Given the description of an element on the screen output the (x, y) to click on. 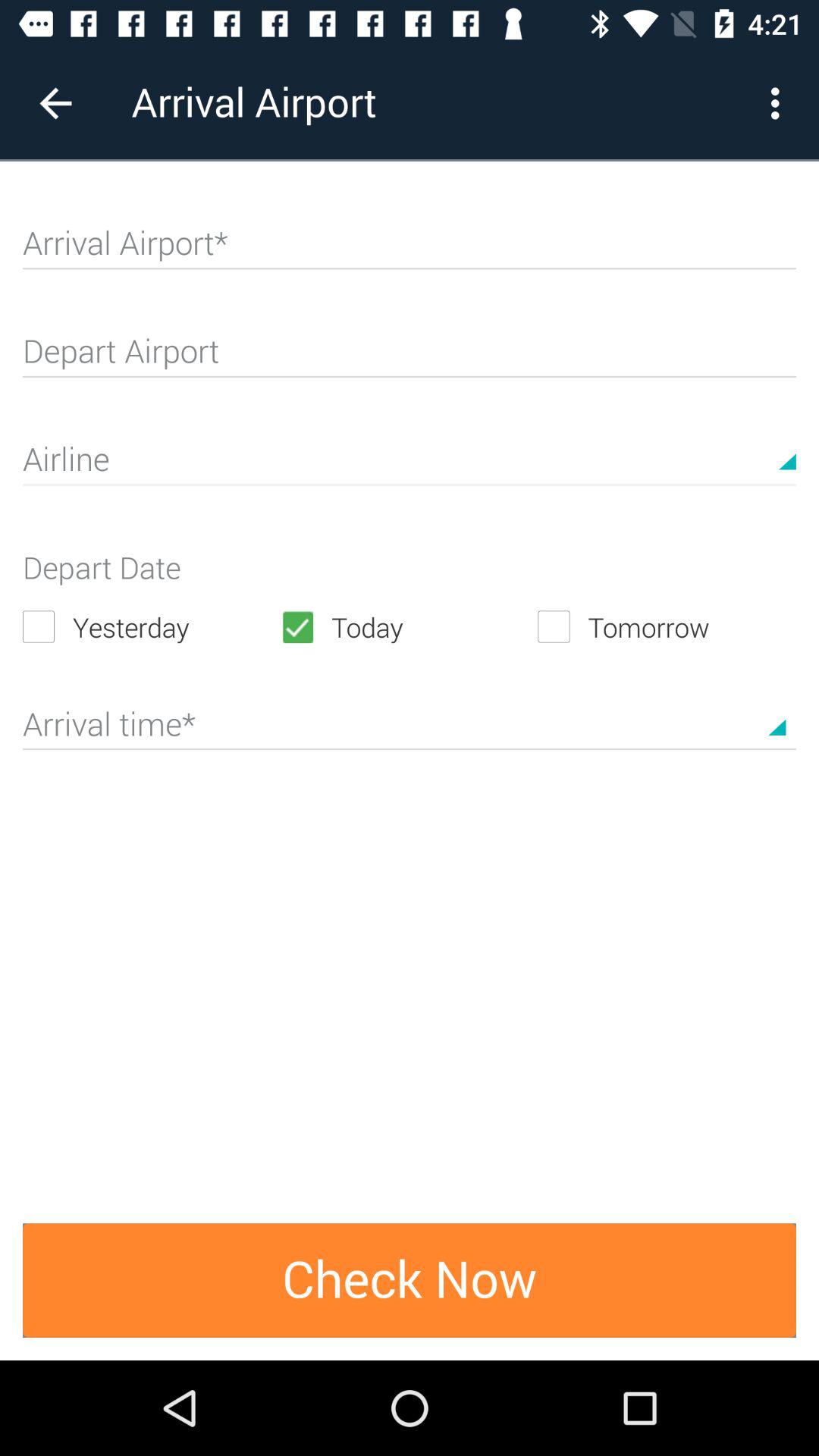
click item next to the tomorrow icon (409, 626)
